Given the description of an element on the screen output the (x, y) to click on. 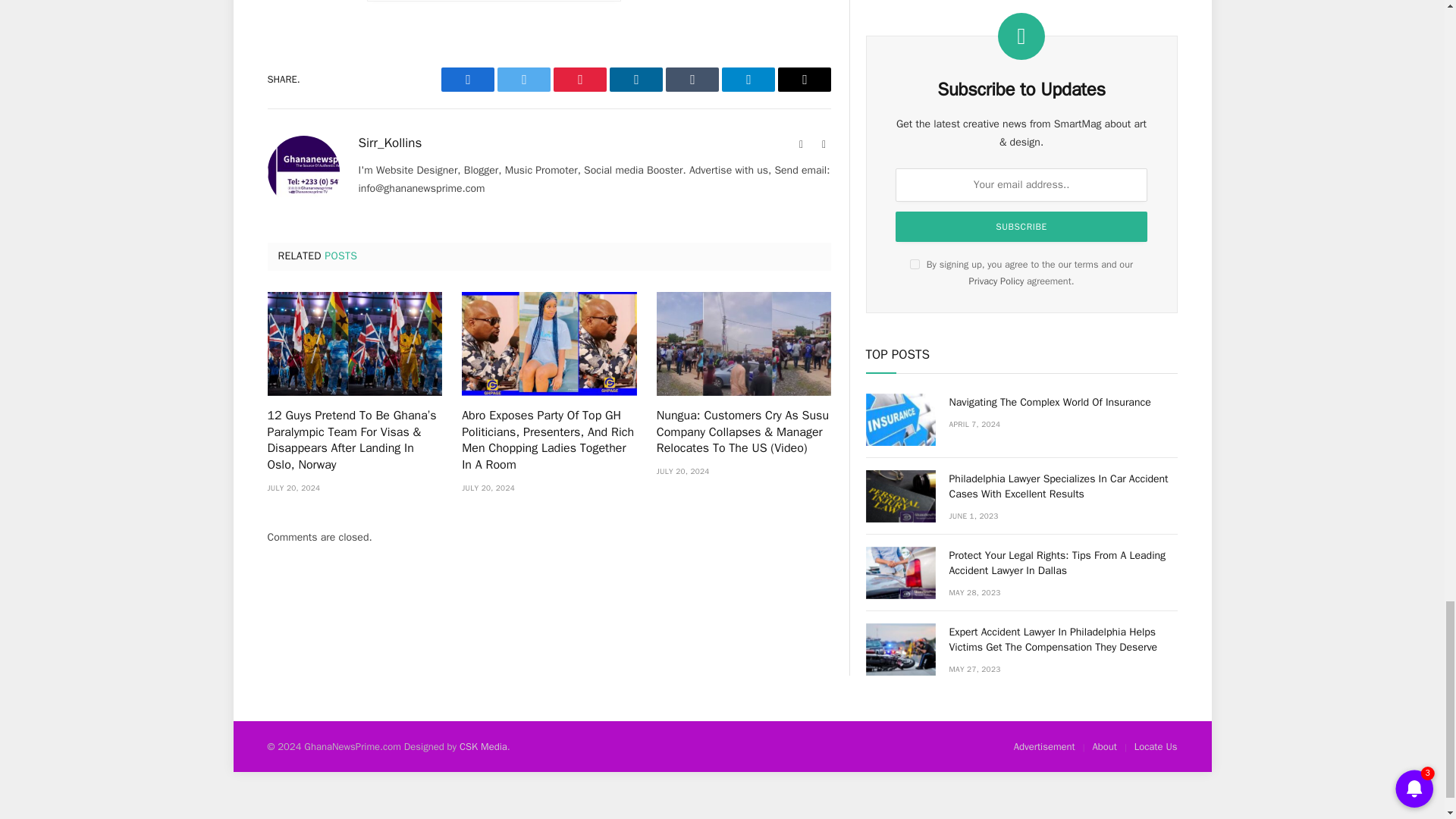
Subscribe (1021, 192)
on (915, 230)
